Given the description of an element on the screen output the (x, y) to click on. 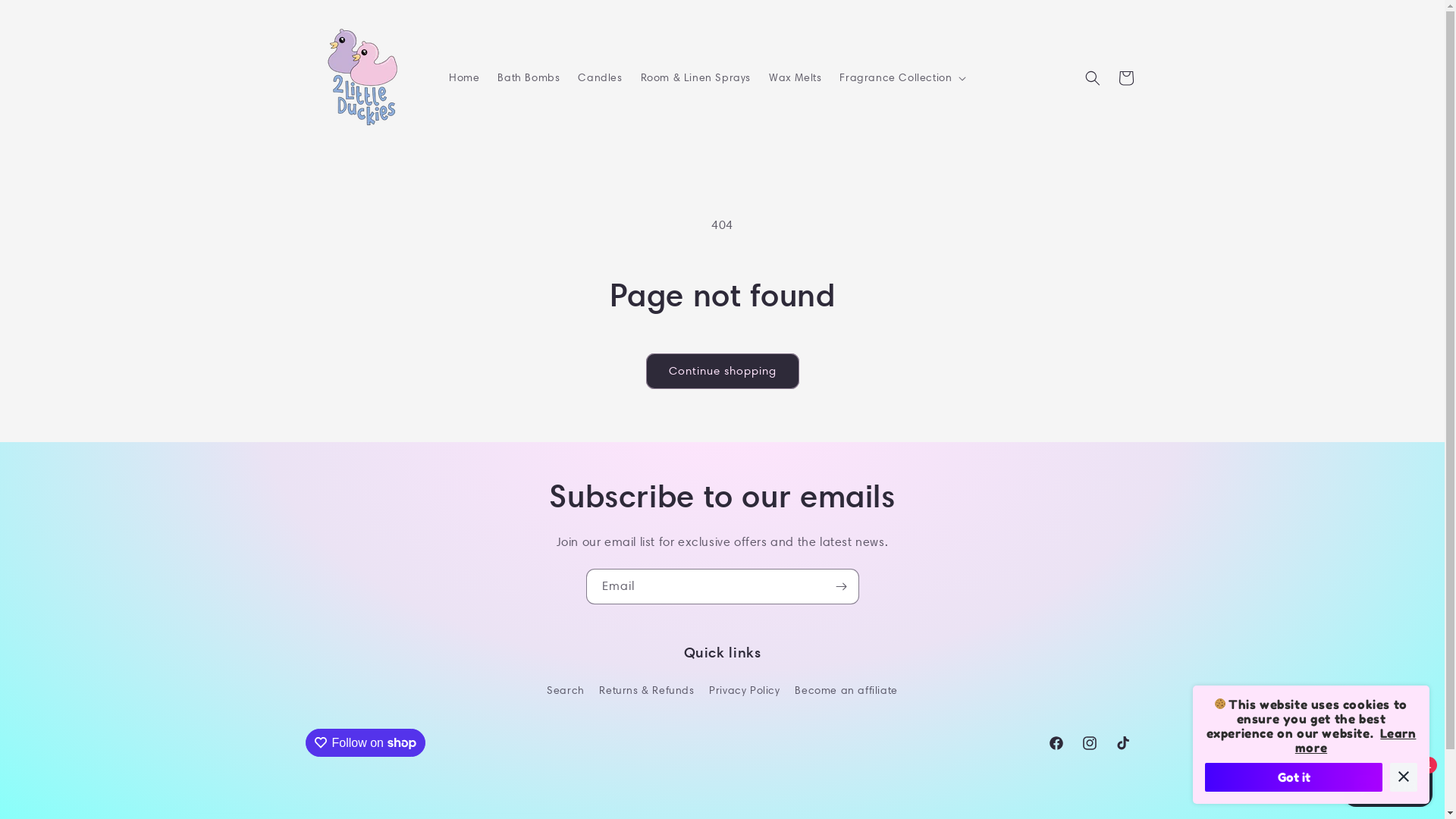
Returns & Refunds Element type: text (646, 690)
TikTok Element type: text (1122, 742)
Home Element type: text (463, 77)
Search Element type: text (565, 691)
Become an affiliate Element type: text (845, 690)
Continue shopping Element type: text (722, 371)
Learn more Element type: text (1355, 740)
Room & Linen Sprays Element type: text (695, 77)
Cart Element type: text (1125, 77)
Shopify online store chat Element type: hover (1388, 780)
Wax Melts Element type: text (794, 77)
Instagram Element type: text (1088, 742)
Bath Bombs Element type: text (528, 77)
Facebook Element type: text (1055, 742)
Candles Element type: text (599, 77)
Privacy Policy Element type: text (744, 690)
Got it Element type: text (1293, 776)
